Given the description of an element on the screen output the (x, y) to click on. 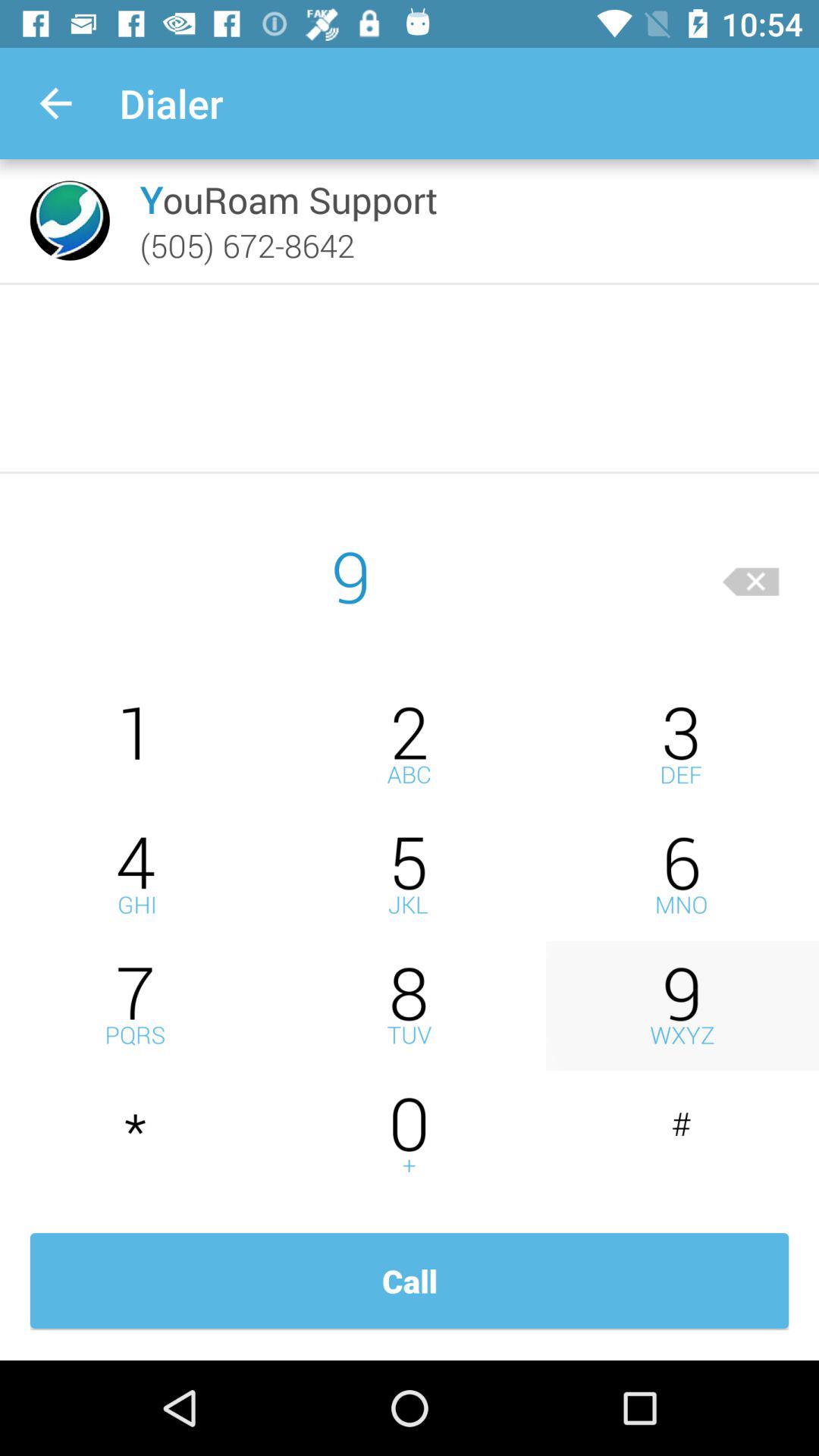
key to enter star as a character (136, 1135)
